Given the description of an element on the screen output the (x, y) to click on. 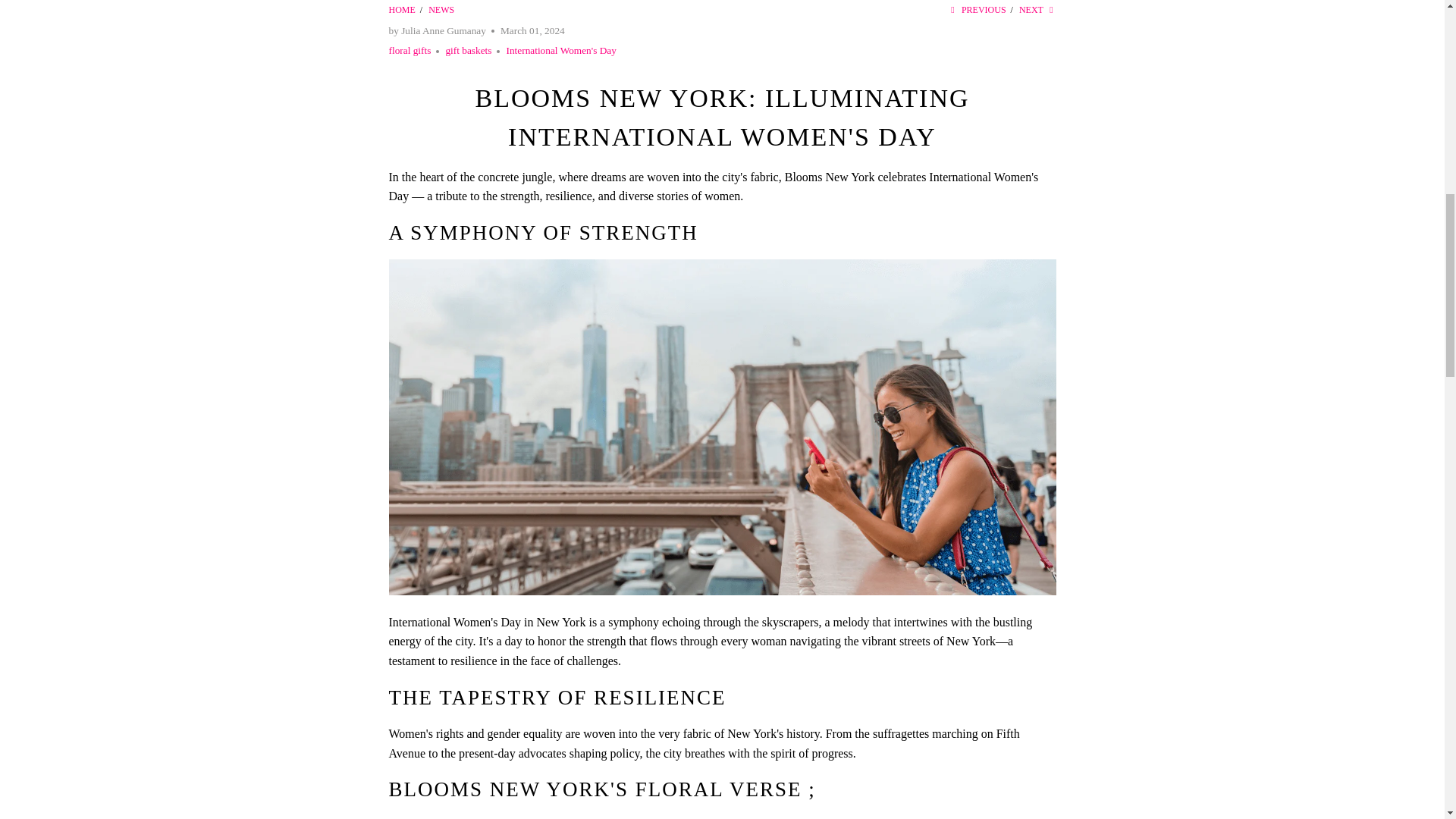
News (441, 9)
New York Blooms (401, 9)
News tagged gift baskets (468, 50)
News tagged floral gifts (409, 50)
News tagged International Women's Day (560, 50)
